Given the description of an element on the screen output the (x, y) to click on. 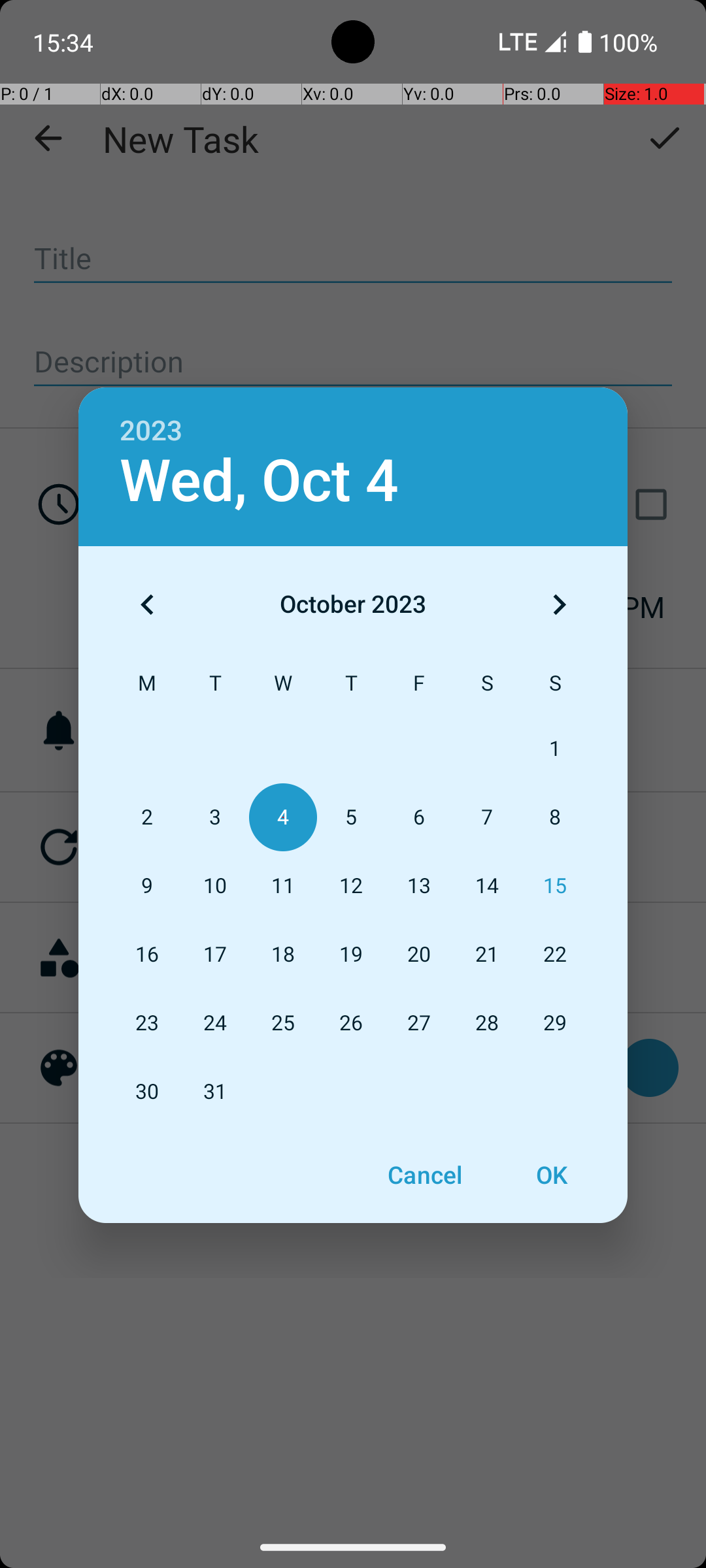
Wed, Oct 4 Element type: android.widget.TextView (258, 480)
